Given the description of an element on the screen output the (x, y) to click on. 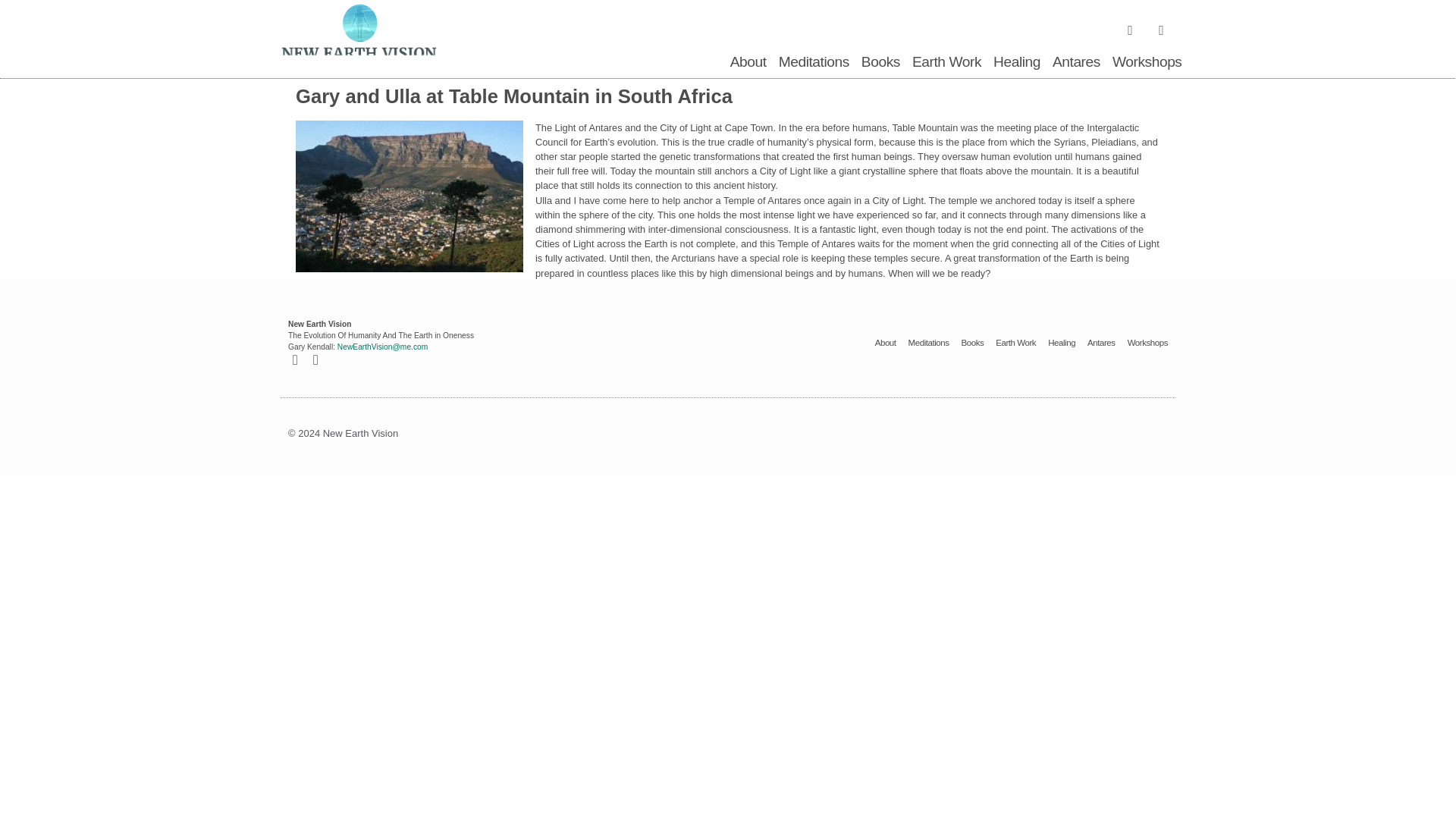
Healing (1016, 61)
Books (972, 342)
About (885, 342)
Antares (1101, 342)
Earth Work (946, 61)
Antares (1076, 61)
Workshops (1147, 61)
Workshops (1146, 342)
Earth Work (1015, 342)
About (748, 61)
Meditations (813, 61)
Books (880, 61)
Healing (1061, 342)
Meditations (928, 342)
